Given the description of an element on the screen output the (x, y) to click on. 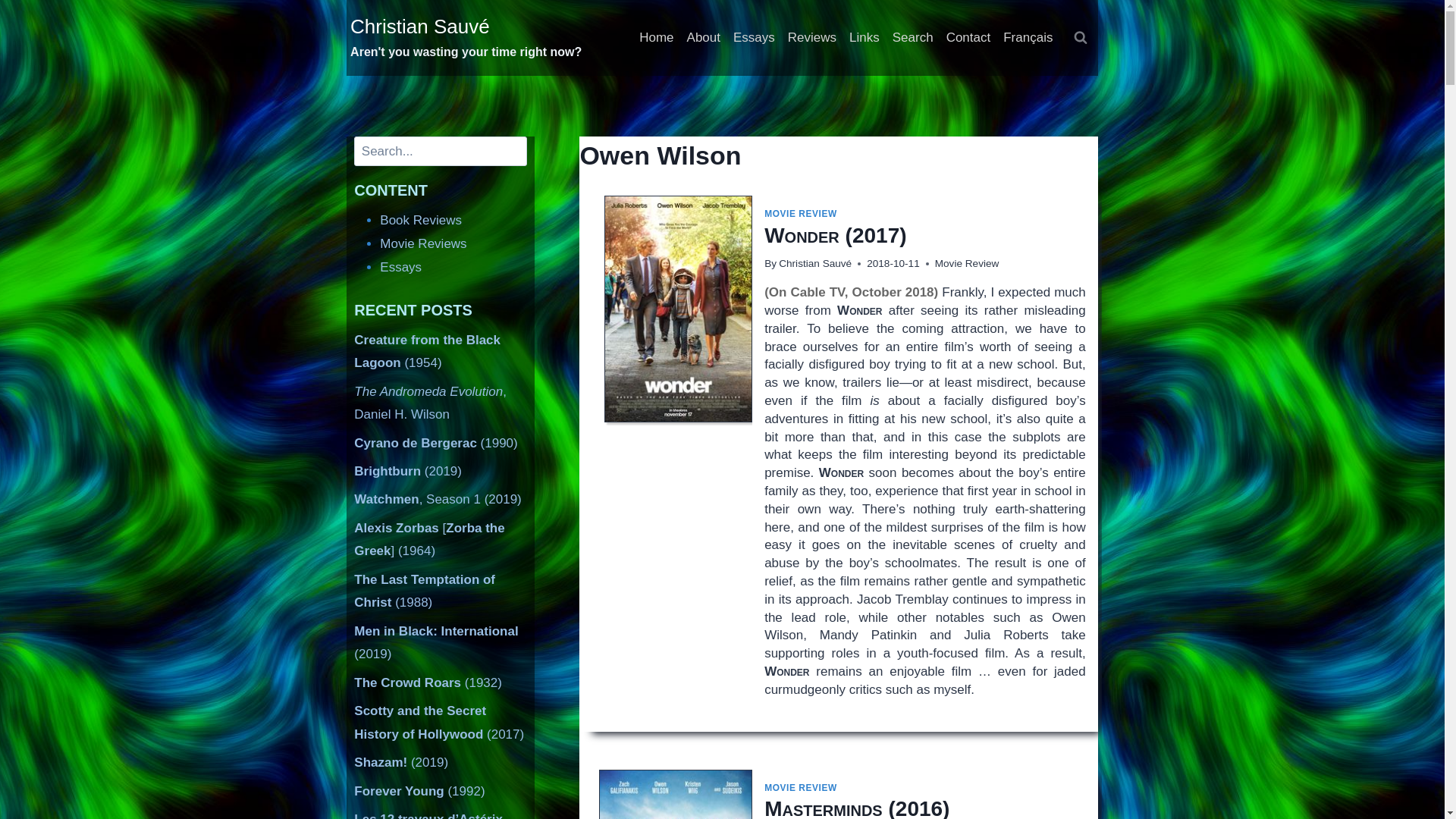
Reviews (811, 38)
MOVIE REVIEW (800, 787)
Home (656, 38)
Links (864, 38)
About (702, 38)
Contact (968, 38)
Essays (753, 38)
Search (912, 38)
Movie Review (966, 263)
MOVIE REVIEW (800, 213)
